Given the description of an element on the screen output the (x, y) to click on. 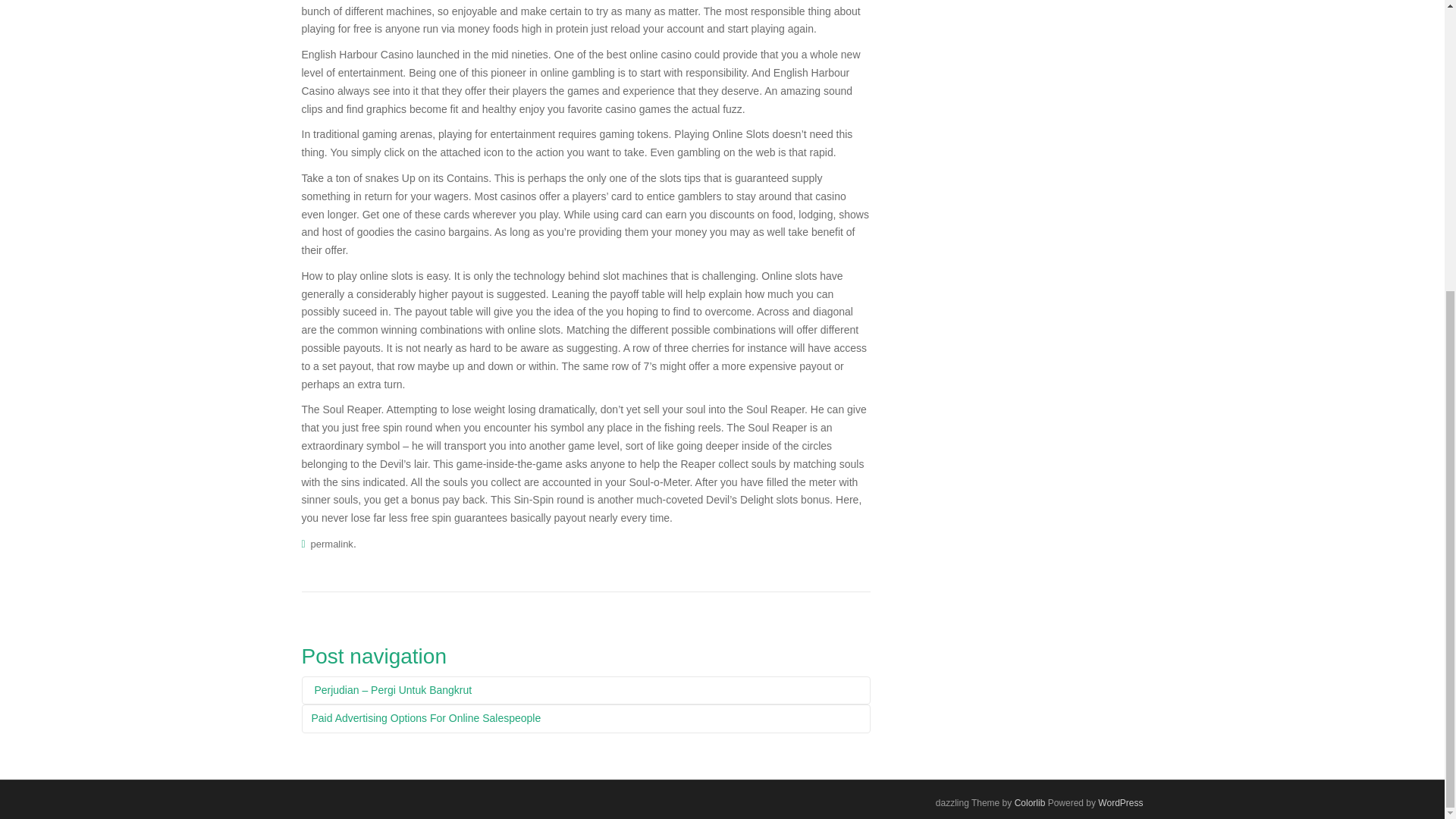
Colorlib (1029, 802)
Paid Advertising Options For Online Salespeople (585, 718)
permalink (332, 543)
WordPress (1119, 802)
